Given the description of an element on the screen output the (x, y) to click on. 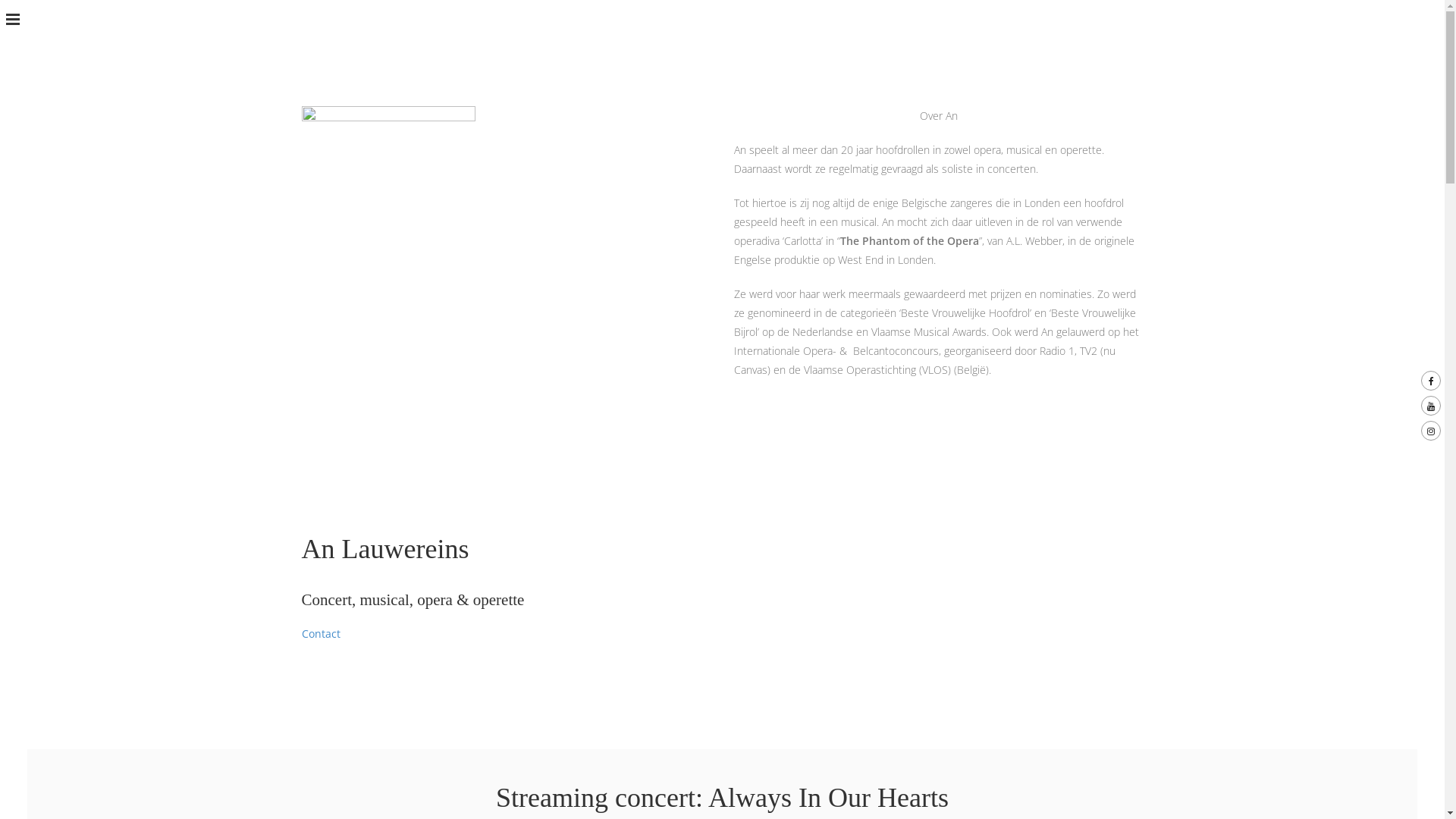
Contact Element type: text (320, 633)
